Given the description of an element on the screen output the (x, y) to click on. 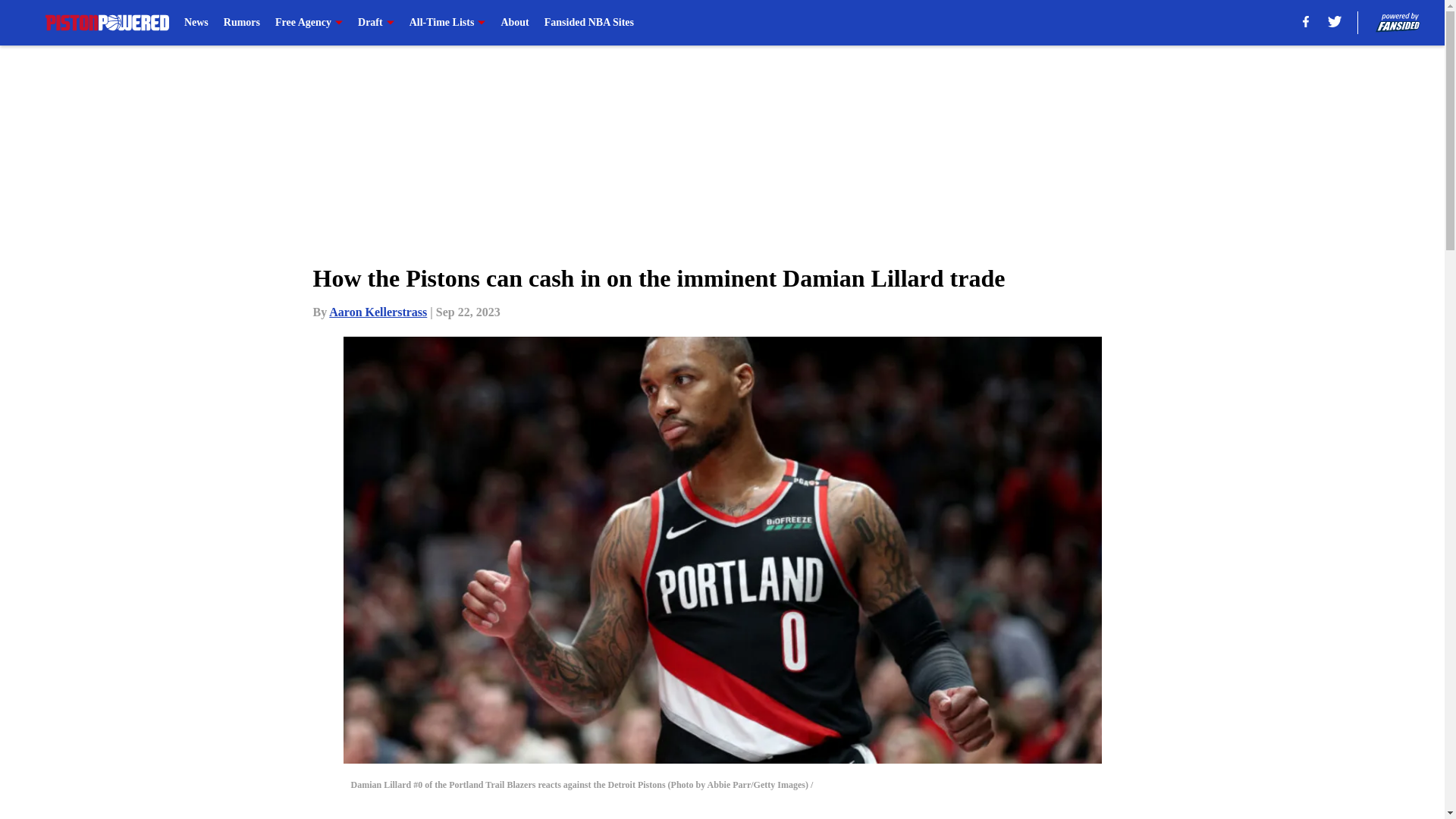
Fansided NBA Sites (588, 22)
Rumors (242, 22)
Aaron Kellerstrass (377, 311)
All-Time Lists (447, 22)
News (196, 22)
Draft (376, 22)
About (514, 22)
Free Agency (308, 22)
